Given the description of an element on the screen output the (x, y) to click on. 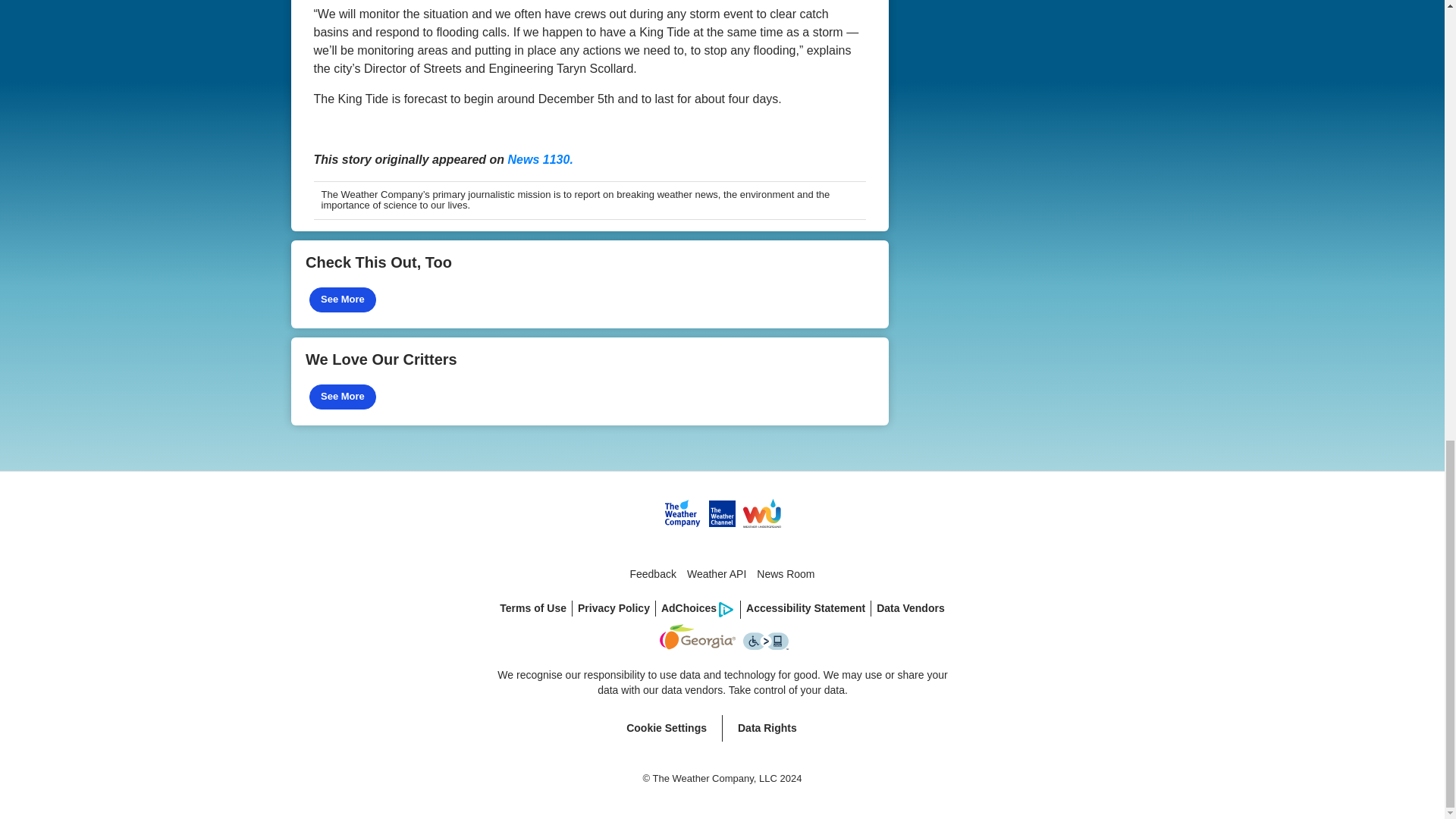
We Love Our Critters (589, 381)
Feedback (652, 574)
See More (341, 299)
Accessibility Statement (805, 608)
News Room (785, 574)
See More (341, 396)
eSSENTIAL Accessibility (765, 641)
News 1130. (540, 159)
Data Vendors (909, 608)
Privacy Policy (614, 608)
